Given the description of an element on the screen output the (x, y) to click on. 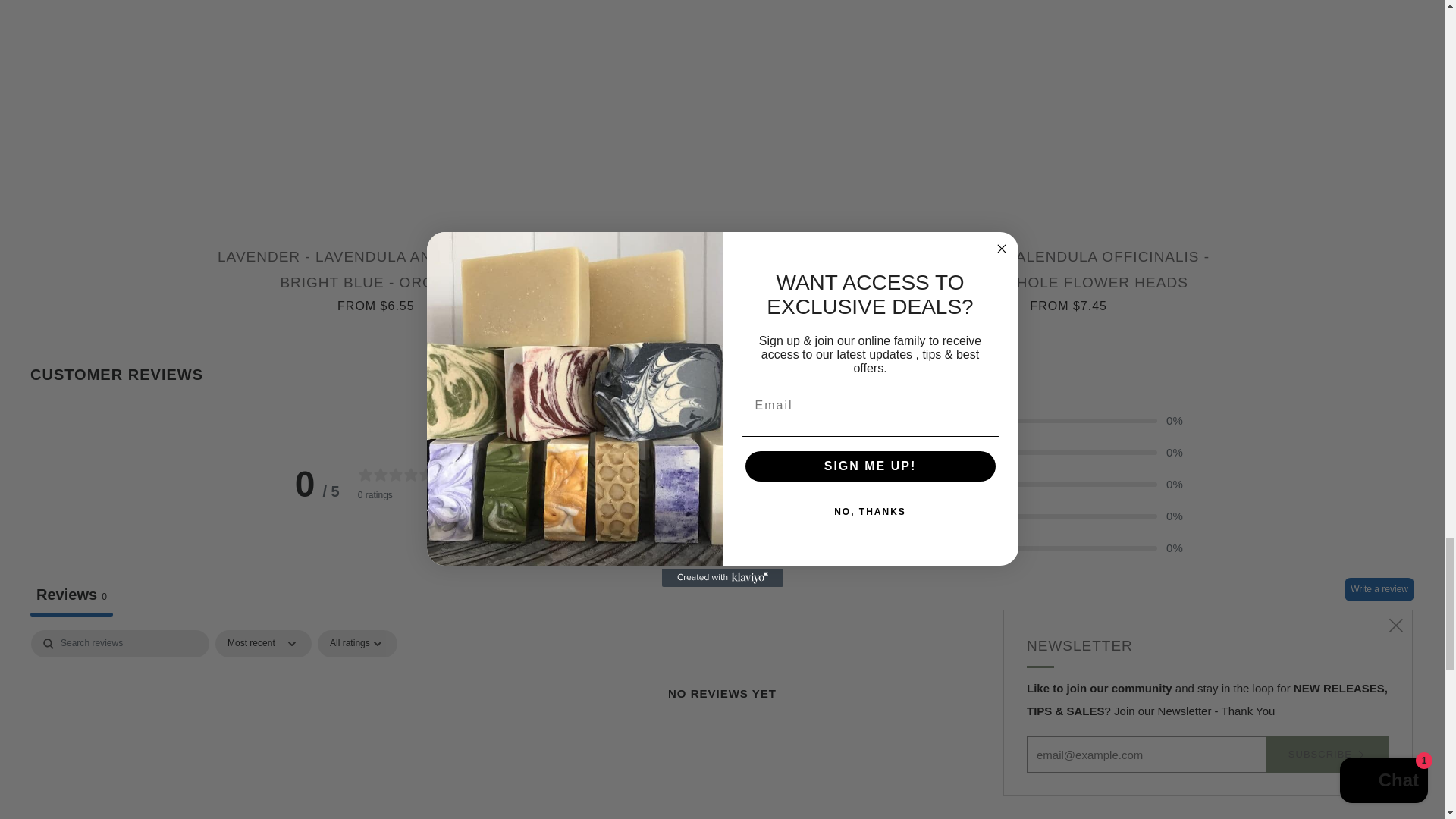
Organic Calendula officinalis - Dried Whole Flower Heads (1068, 278)
Lavender - Lavendula angustifolia - Bright Blue - Organic (376, 278)
Rose Petals - Rosa centifolia - RED (721, 265)
